Given the description of an element on the screen output the (x, y) to click on. 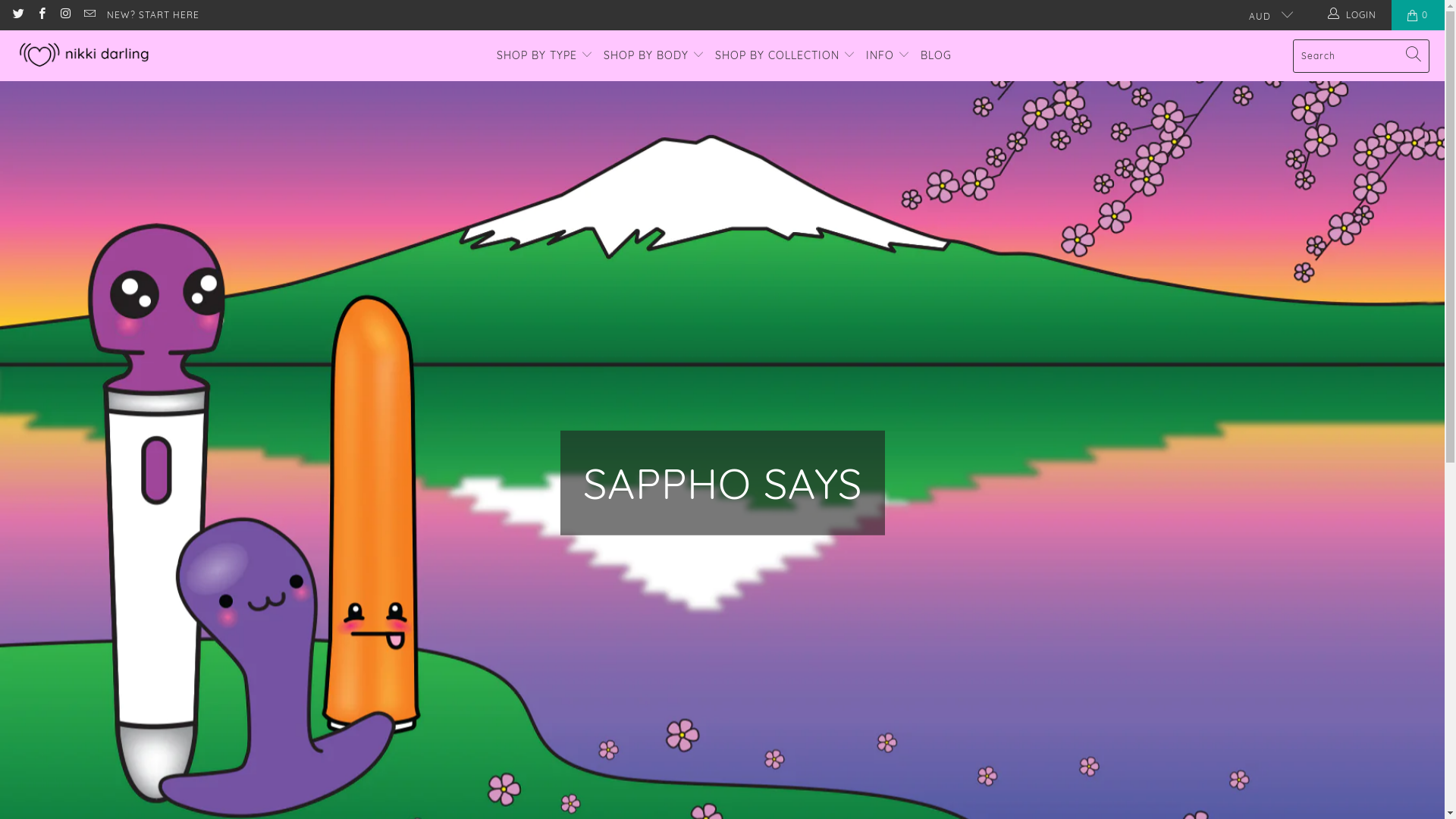
NEW? START HERE Element type: text (152, 15)
SHOP BY TYPE Element type: text (544, 55)
Nikki Darling on Facebook Element type: hover (40, 14)
SHOP BY COLLECTION Element type: text (785, 55)
LOGIN Element type: text (1353, 15)
Nikki Darling on Instagram Element type: hover (64, 14)
INFO Element type: text (888, 55)
BLOG Element type: text (935, 55)
AUD Element type: text (1264, 15)
Email Nikki Darling Element type: hover (87, 14)
SHOP BY BODY Element type: text (653, 55)
Nikki Darling Element type: hover (85, 55)
Nikki Darling on Twitter Element type: hover (17, 14)
0 Element type: text (1417, 15)
